Given the description of an element on the screen output the (x, y) to click on. 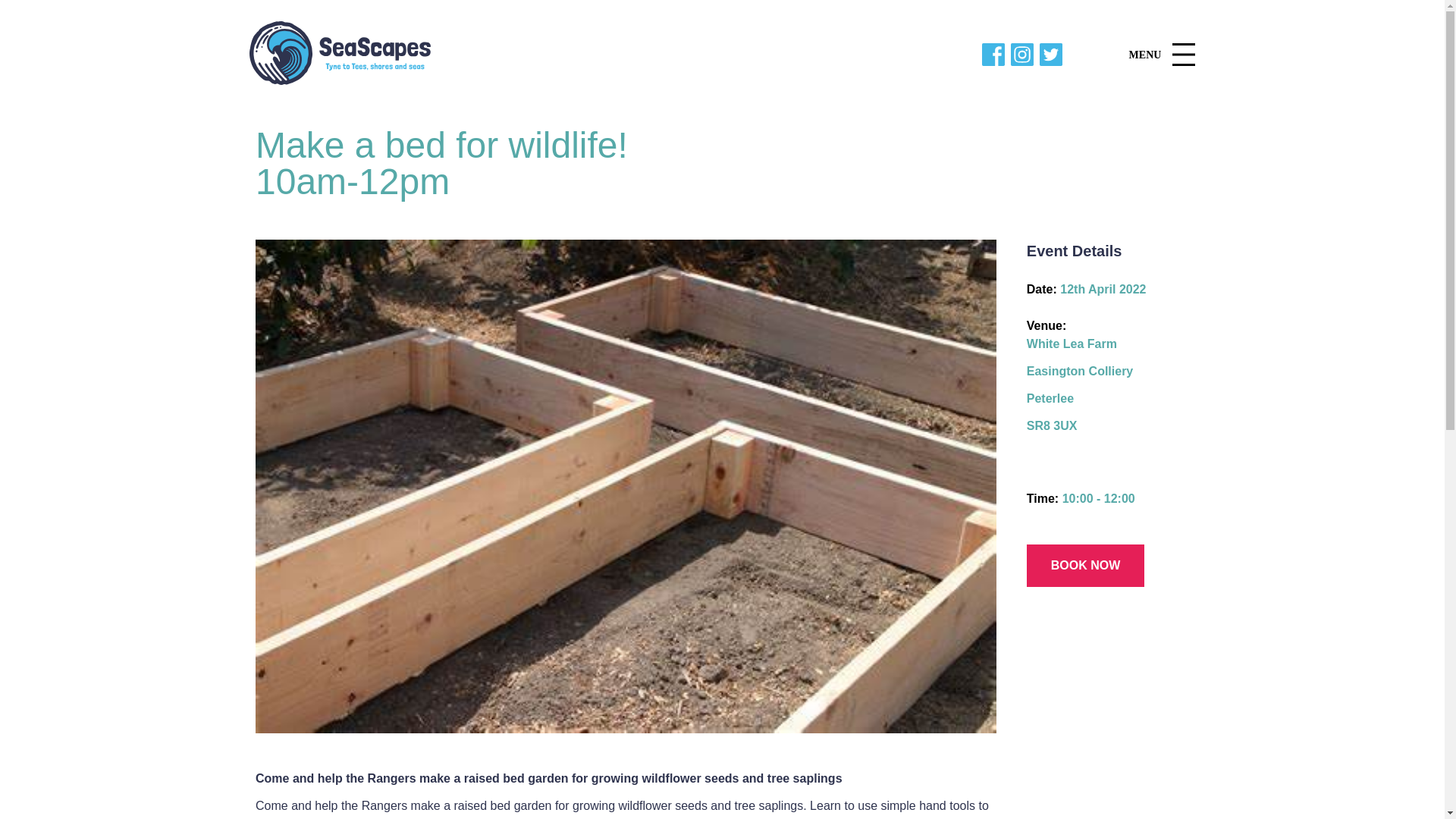
BOOK NOW (1085, 565)
MENU (1161, 54)
MENU (1161, 54)
